Given the description of an element on the screen output the (x, y) to click on. 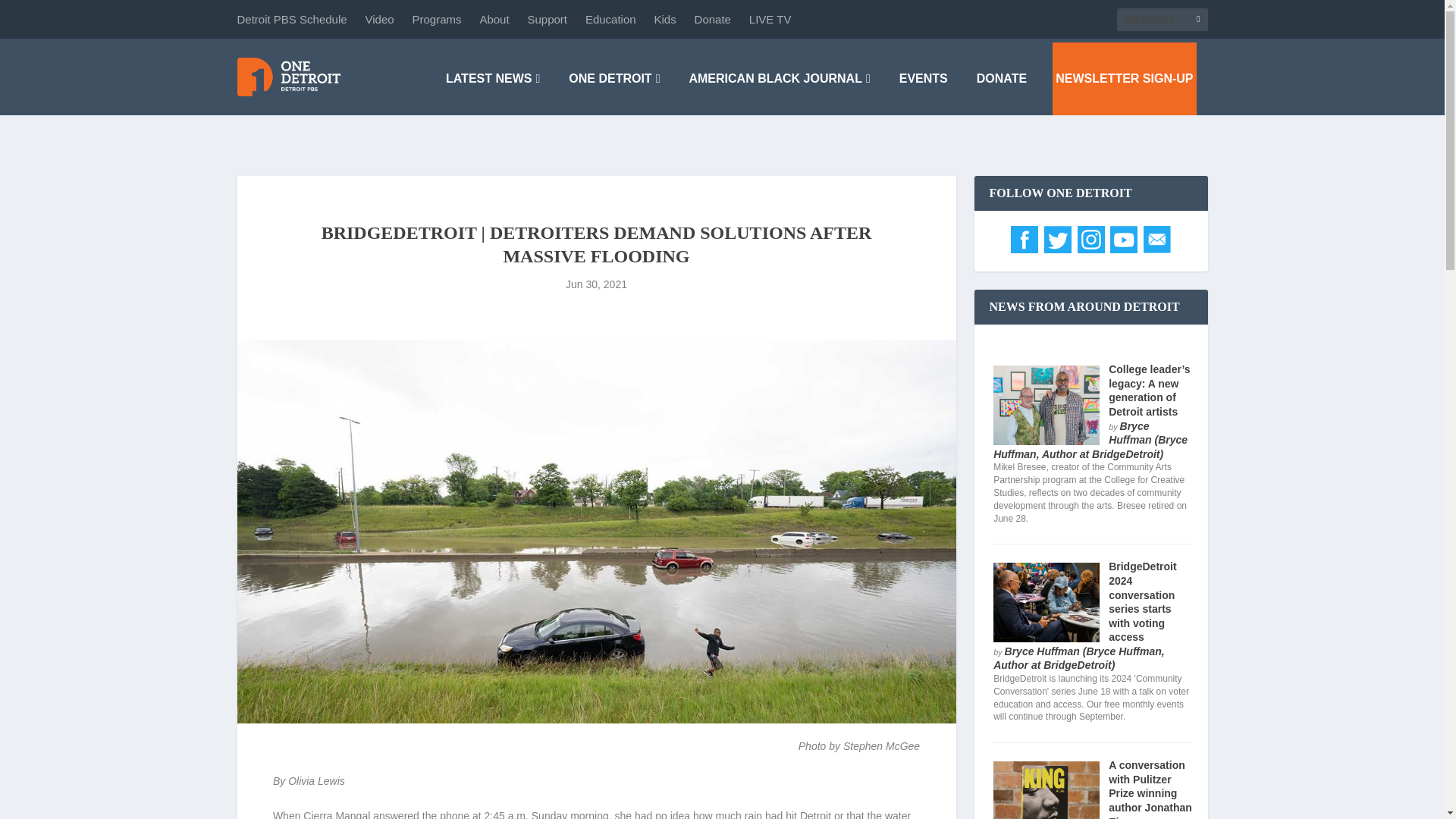
Facebook (1024, 249)
LATEST NEWS (492, 78)
Video (379, 19)
Search for: (1161, 18)
AMERICAN BLACK JOURNAL (778, 78)
Kids (665, 19)
Support (547, 19)
DONATE (1001, 78)
ONE DETROIT (614, 78)
Twitter (1057, 249)
Instagram (1090, 249)
LIVE TV (770, 19)
NEWSLETTER SIGN-UP (1123, 78)
Donate (712, 19)
Programs (436, 19)
